Given the description of an element on the screen output the (x, y) to click on. 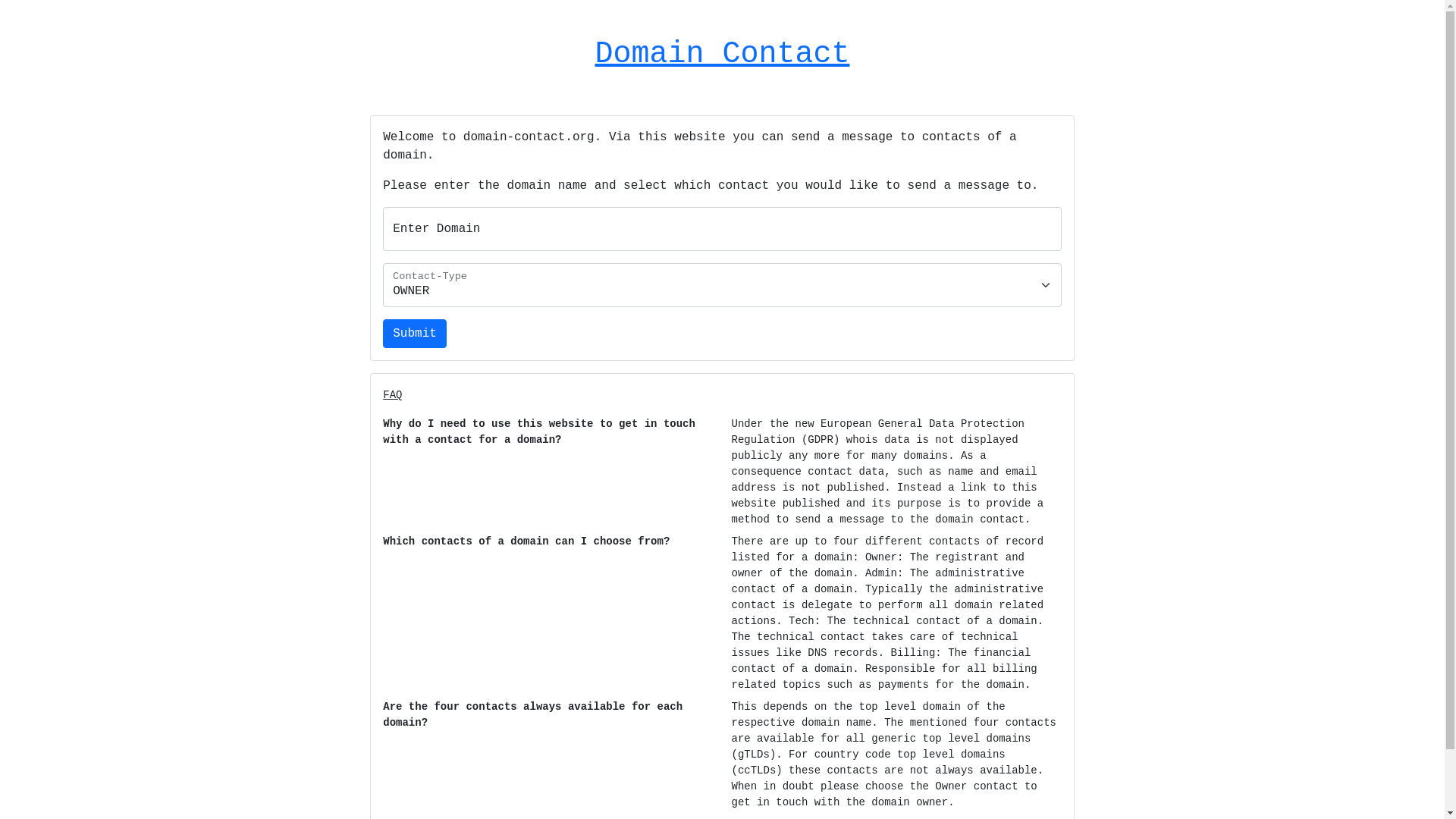
Submit Element type: text (414, 333)
Domain Contact Element type: text (721, 54)
